Given the description of an element on the screen output the (x, y) to click on. 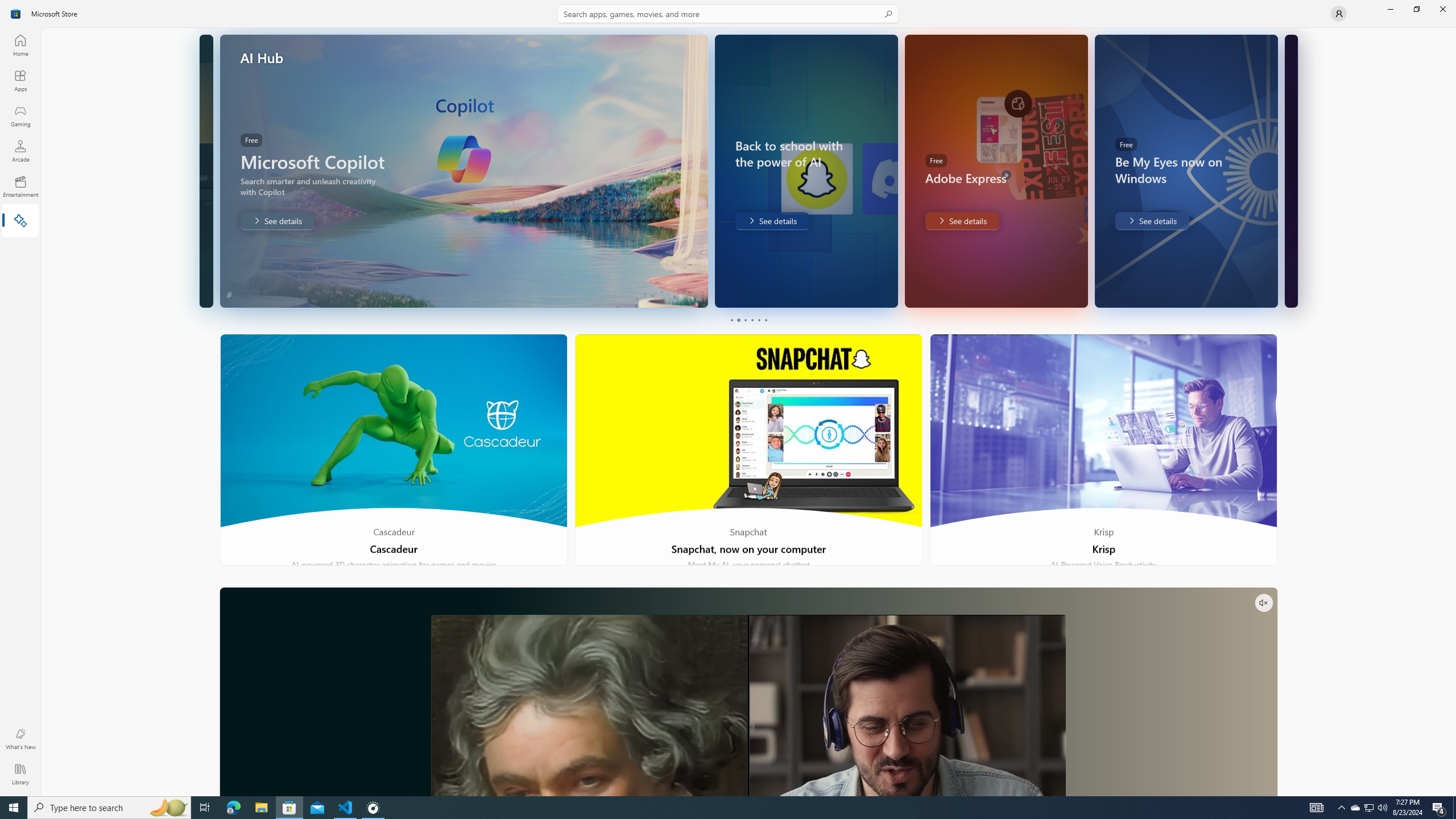
What's New (20, 738)
Entertainment (20, 185)
Unmute (1263, 602)
